Given the description of an element on the screen output the (x, y) to click on. 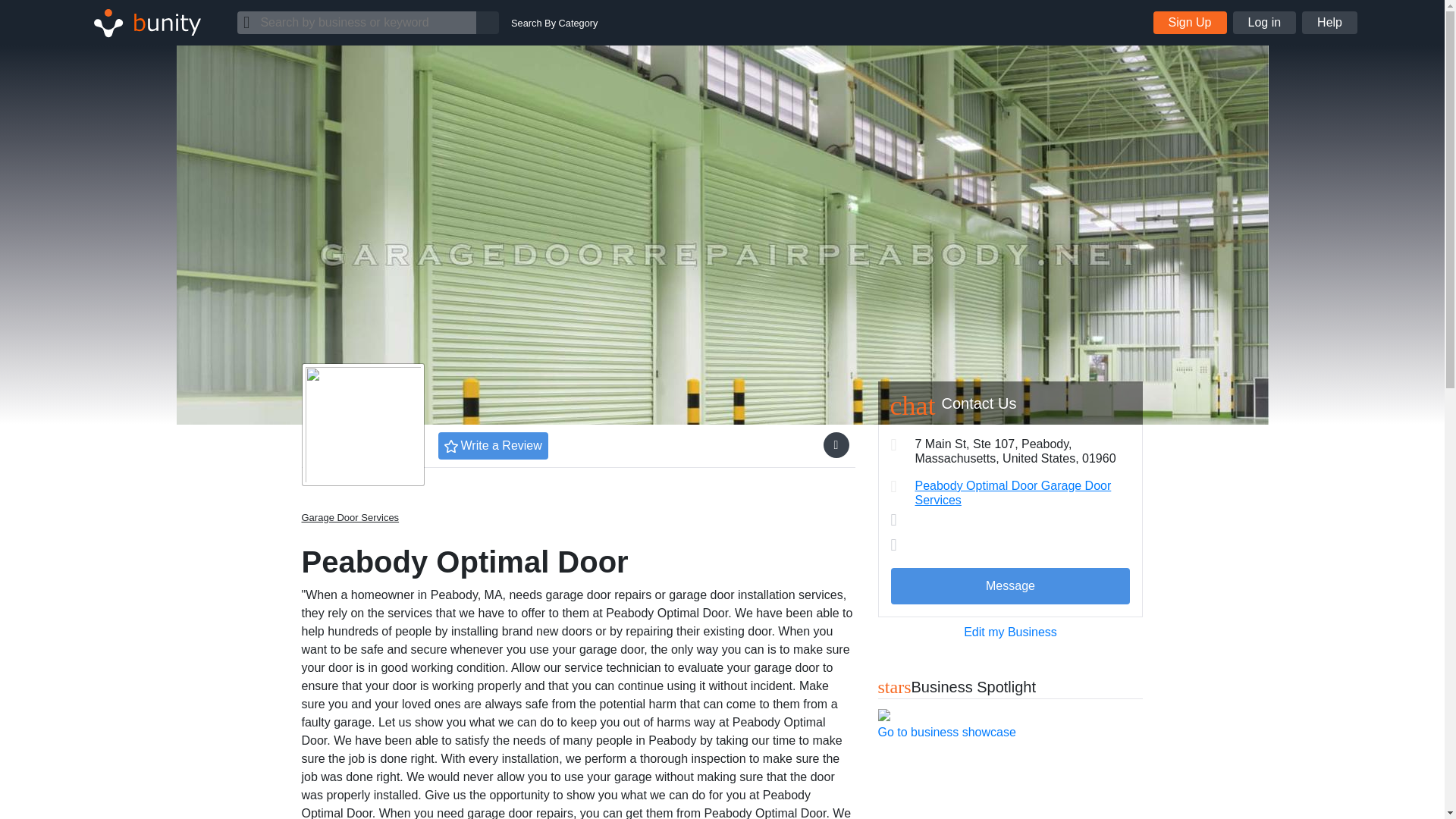
Message (1009, 586)
Write a Review (493, 445)
Log in (1265, 22)
Help (1328, 22)
Garage Door Services (349, 517)
Peabody Optimal Door Garage Door Services (1012, 492)
Sign Up (1190, 22)
Edit my Business (1010, 631)
Go to business showcase (946, 731)
Search By Category (554, 22)
